Given the description of an element on the screen output the (x, y) to click on. 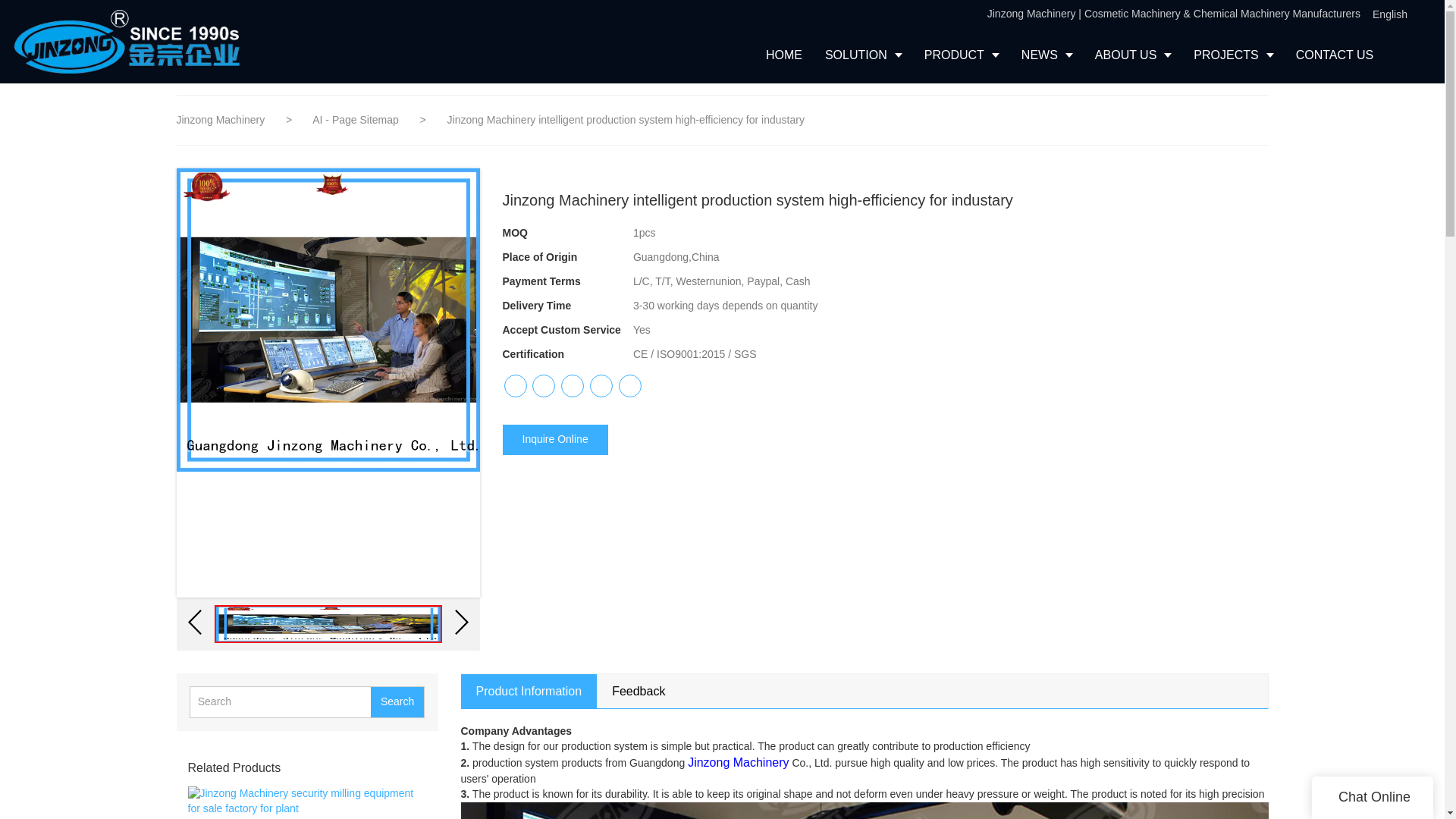
PRODUCT (961, 55)
ABOUT US (1132, 55)
NEWS (1046, 55)
PROJECTS (1233, 55)
Jinzong Machinery (220, 119)
HOME (783, 55)
CONTACT US (1335, 55)
AI - Page Sitemap (357, 119)
SOLUTION (862, 55)
